Given the description of an element on the screen output the (x, y) to click on. 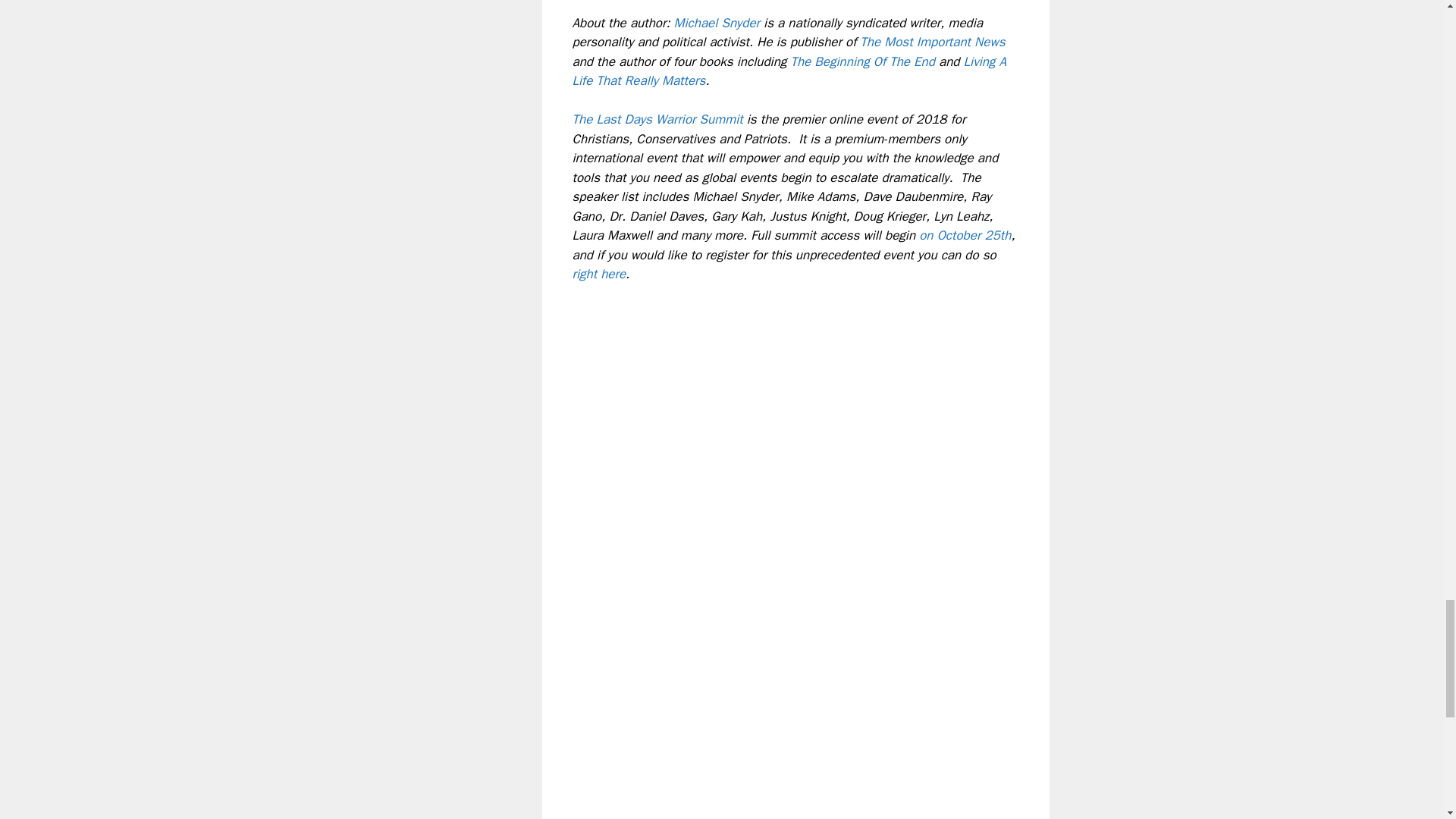
The Beginning Of The End (862, 61)
on October 25th (964, 235)
Michael Snyder (717, 23)
right here (599, 273)
The Last Days Warrior Summit (657, 119)
The Most Important News (932, 41)
Living A Life That Really Matters (789, 71)
